Given the description of an element on the screen output the (x, y) to click on. 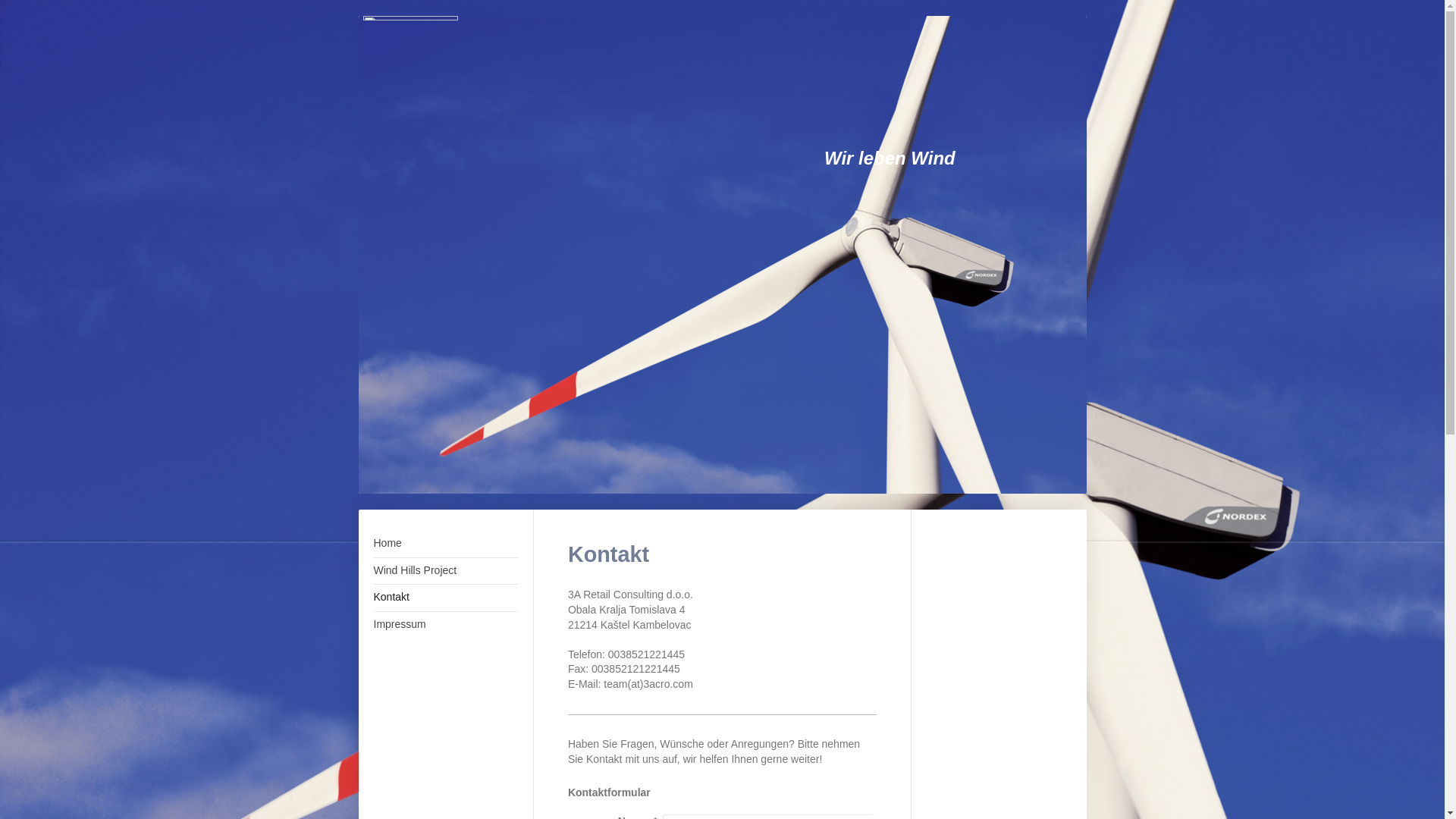
Kontakt Element type: text (445, 597)
Wind Hills Project Element type: text (445, 571)
Home Element type: text (445, 544)
Impressum Element type: text (445, 624)
